Given the description of an element on the screen output the (x, y) to click on. 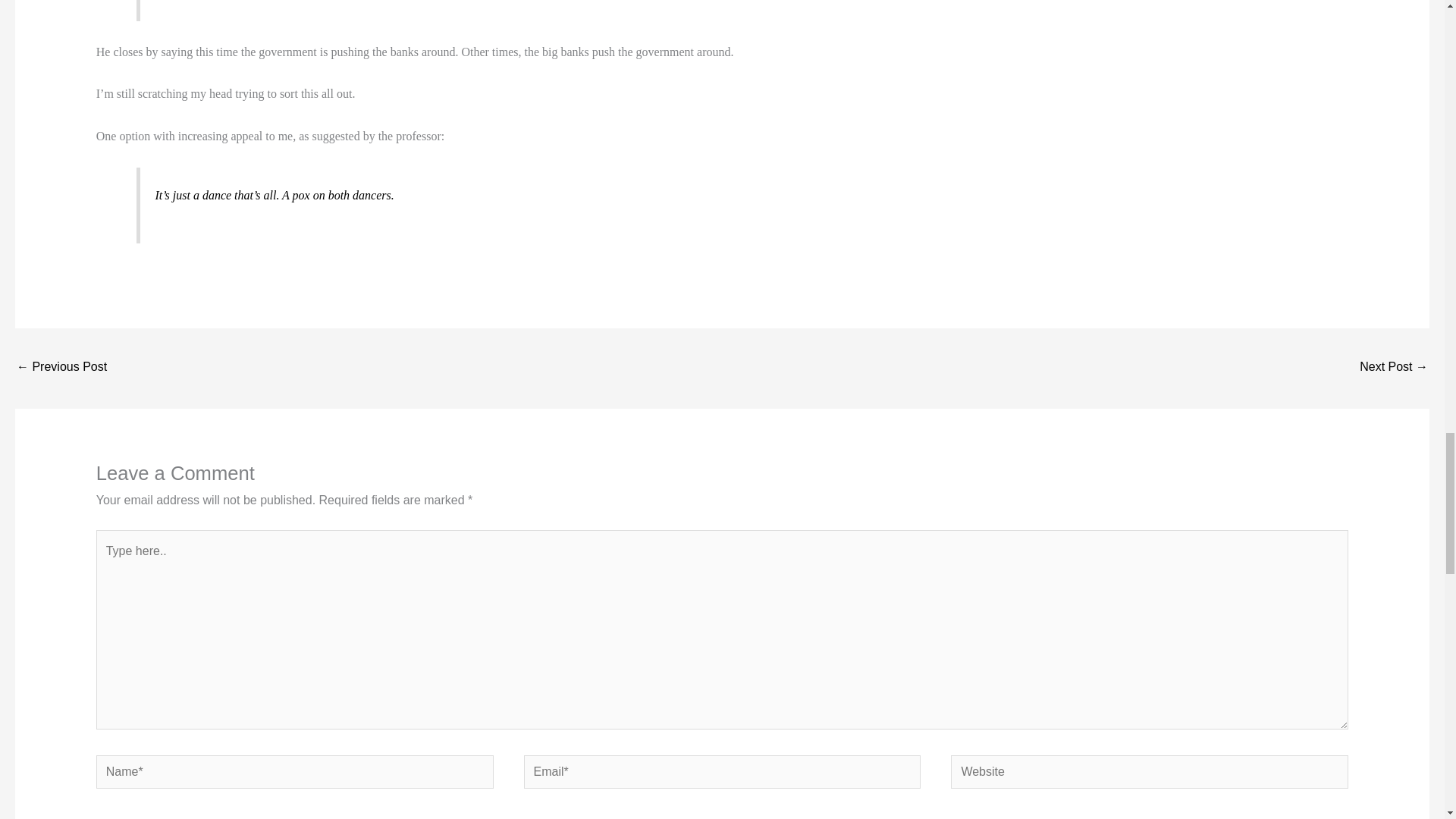
Sentencing dates for KPMG insider trading case (1393, 367)
